Given the description of an element on the screen output the (x, y) to click on. 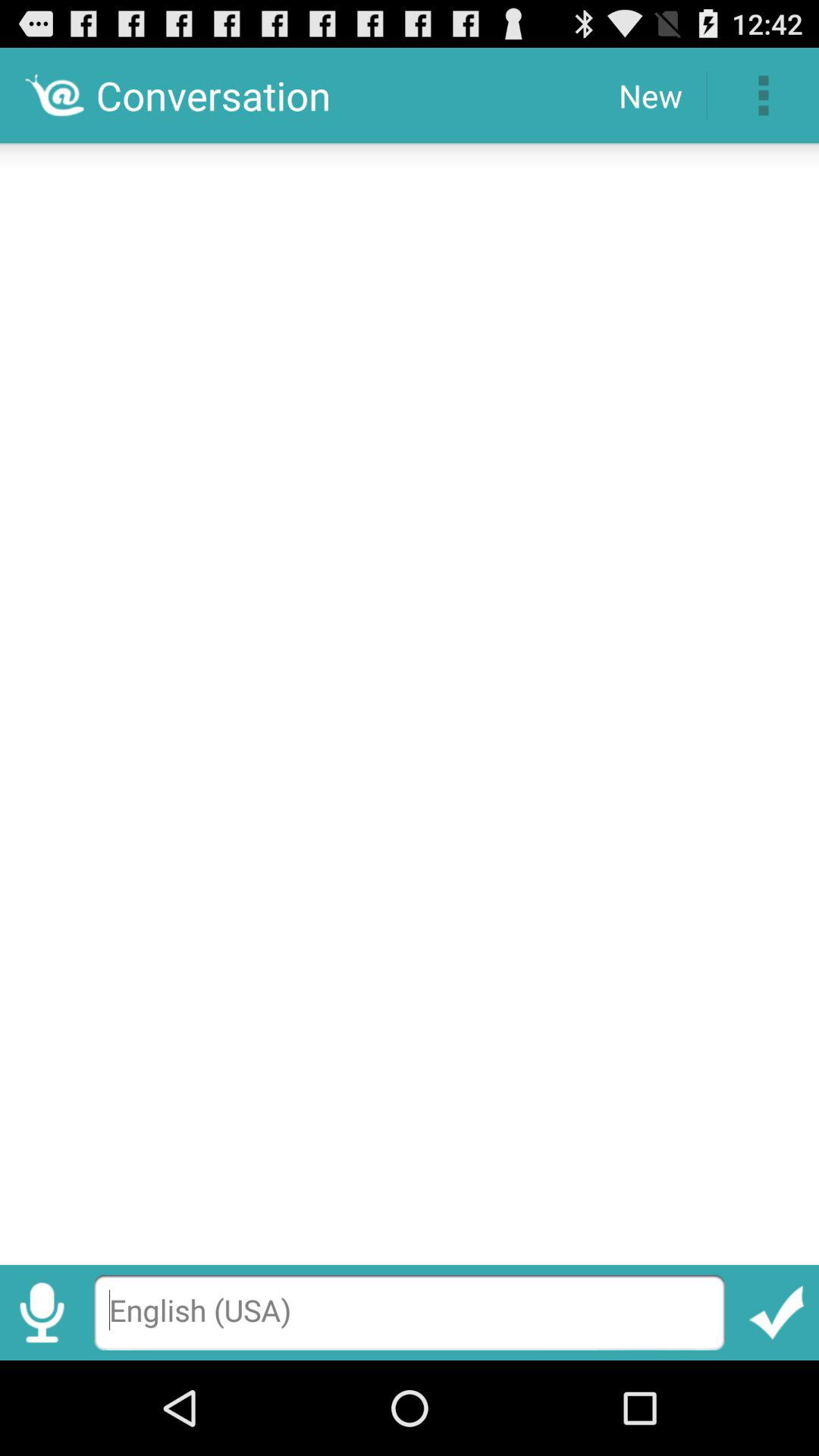
flip to the new icon (650, 95)
